Given the description of an element on the screen output the (x, y) to click on. 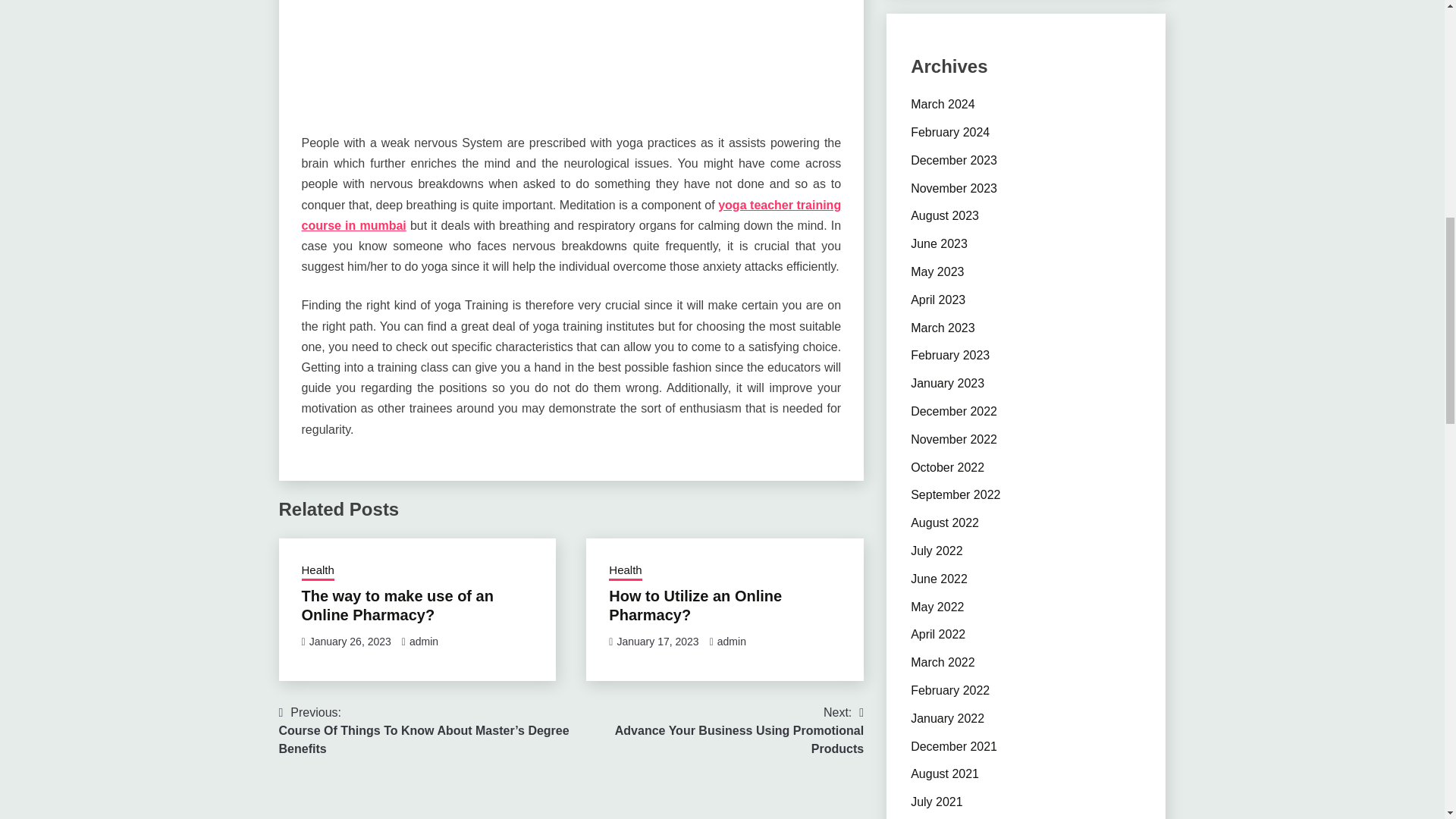
January 17, 2023 (656, 641)
The way to make use of an Online Pharmacy? (397, 605)
Health (317, 571)
December 2023 (954, 160)
yoga teacher training course in mumbai (571, 215)
Health (625, 571)
November 2023 (954, 187)
February 2024 (950, 132)
How to Utilize an Online Pharmacy? (694, 605)
January 26, 2023 (349, 641)
admin (716, 730)
admin (423, 641)
March 2024 (731, 641)
